Given the description of an element on the screen output the (x, y) to click on. 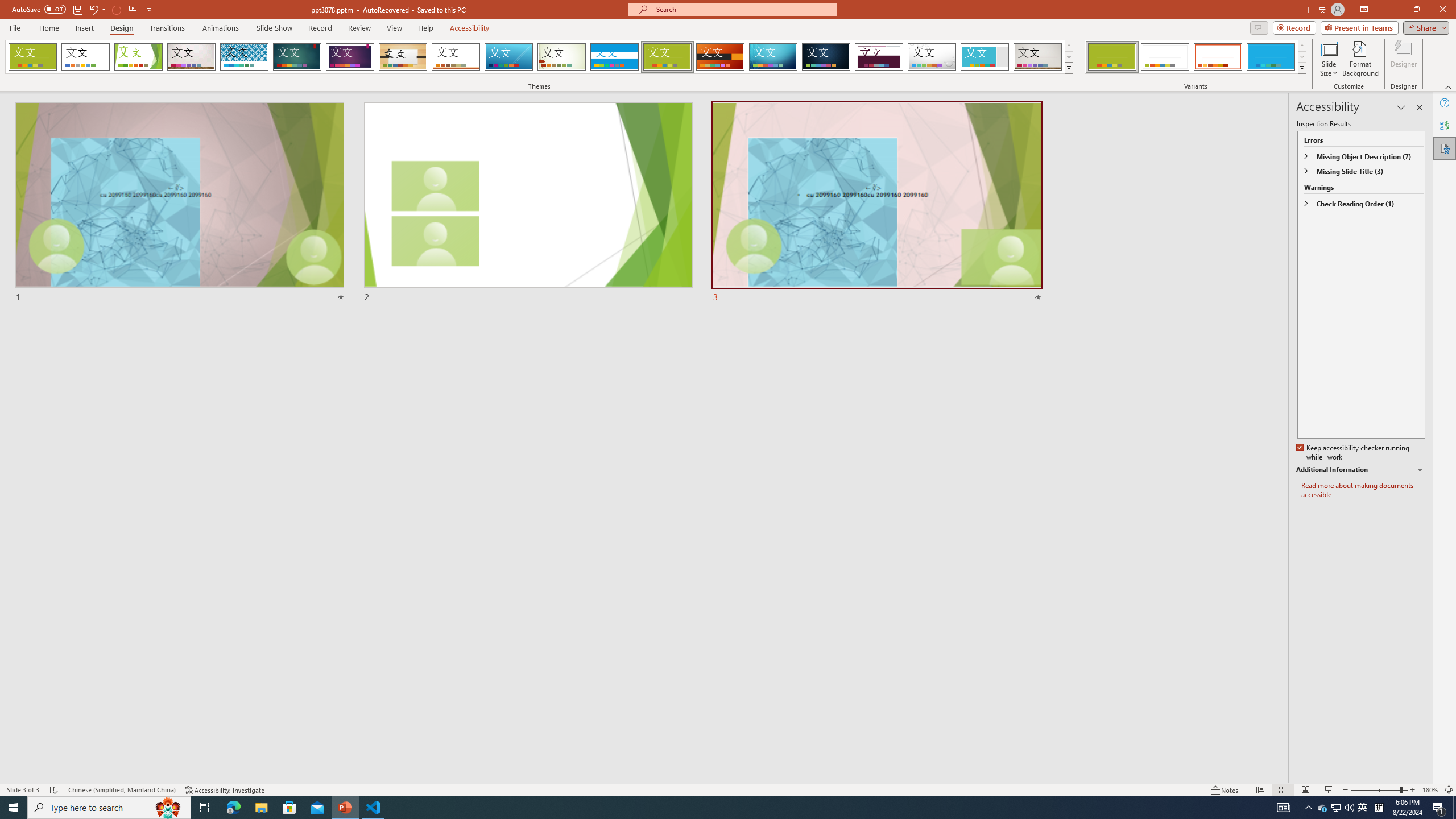
Keep accessibility checker running while I work (1353, 452)
Format Background (1360, 58)
Read more about making documents accessible (1363, 489)
